Given the description of an element on the screen output the (x, y) to click on. 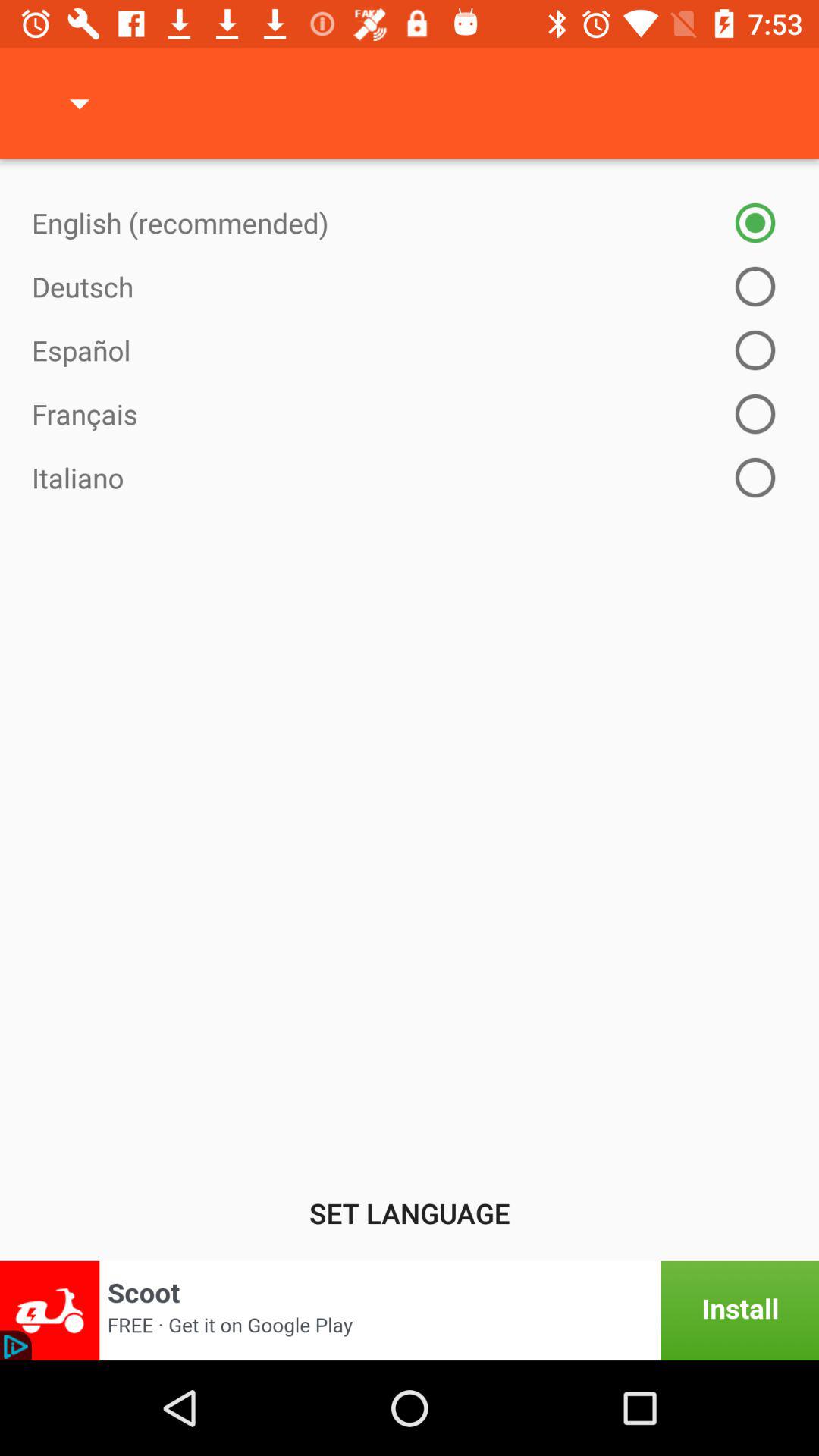
click to install advertised app (409, 1310)
